Given the description of an element on the screen output the (x, y) to click on. 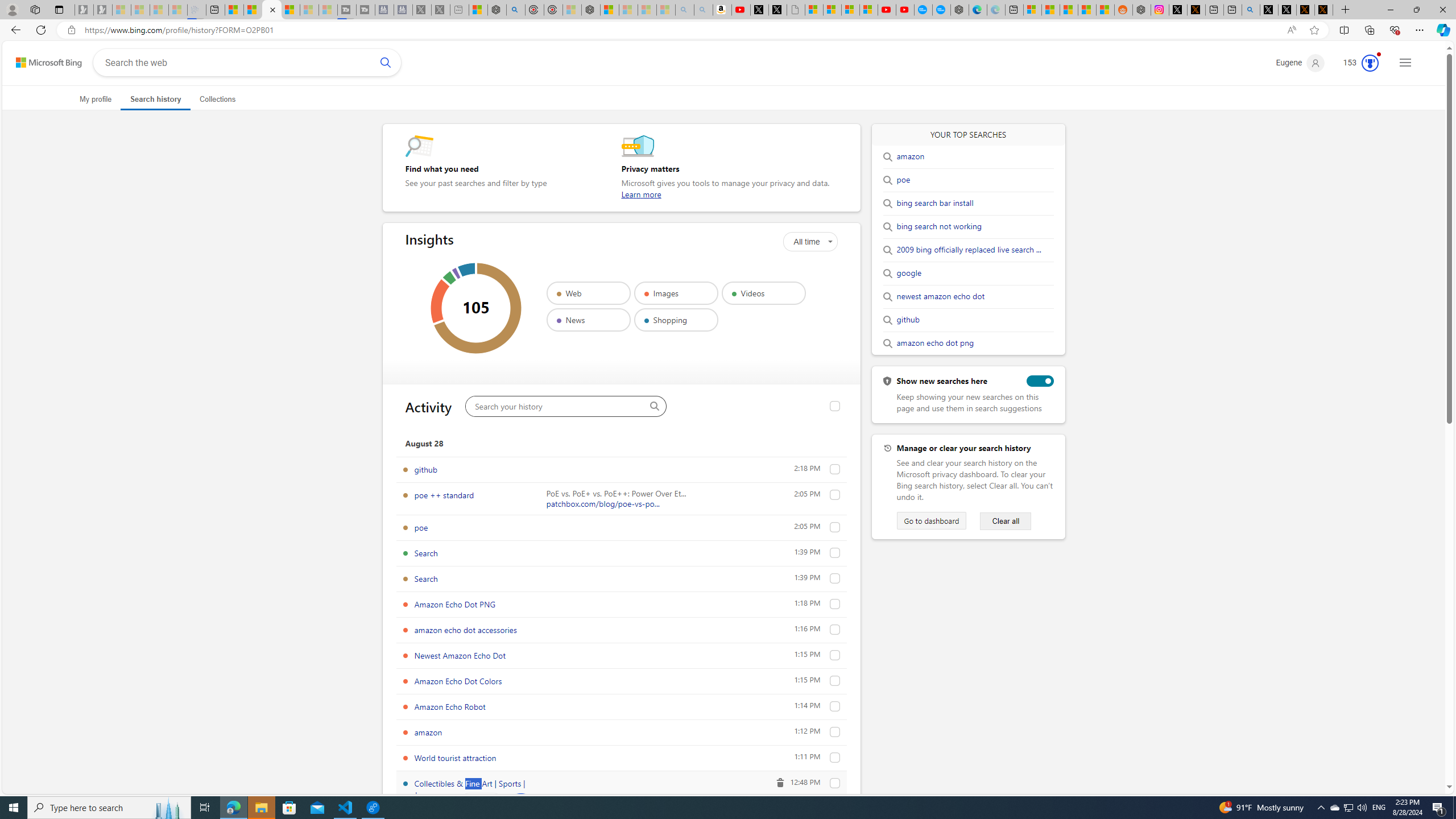
Eugene (1299, 62)
poe - Search (515, 9)
Amazon Echo Robot (449, 706)
Shanghai, China weather forecast | Microsoft Weather (1050, 9)
Add this page to favorites (Ctrl+D) (1314, 29)
Browser essentials (1394, 29)
github (834, 469)
View site information (70, 29)
Learnmore (641, 194)
Class: el_arc partner-images (440, 301)
Nordace - Summer Adventures 2024 (1142, 9)
Day 1: Arriving in Yemen (surreal to be here) - YouTube (740, 9)
Amazon Echo Robot (834, 706)
